Given the description of an element on the screen output the (x, y) to click on. 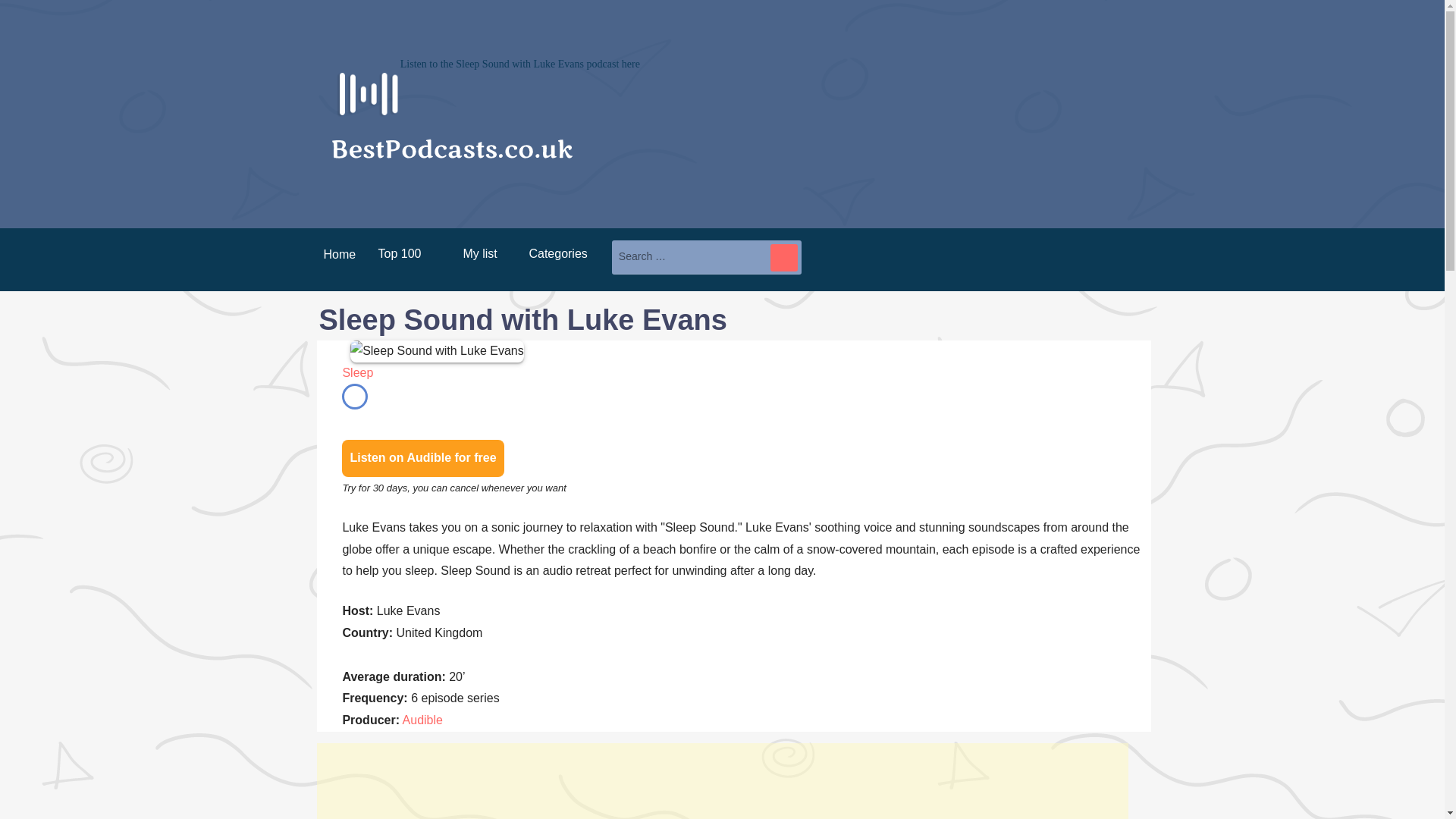
My list (474, 253)
Home (334, 259)
Categories (557, 253)
Top 100 (398, 253)
